Given the description of an element on the screen output the (x, y) to click on. 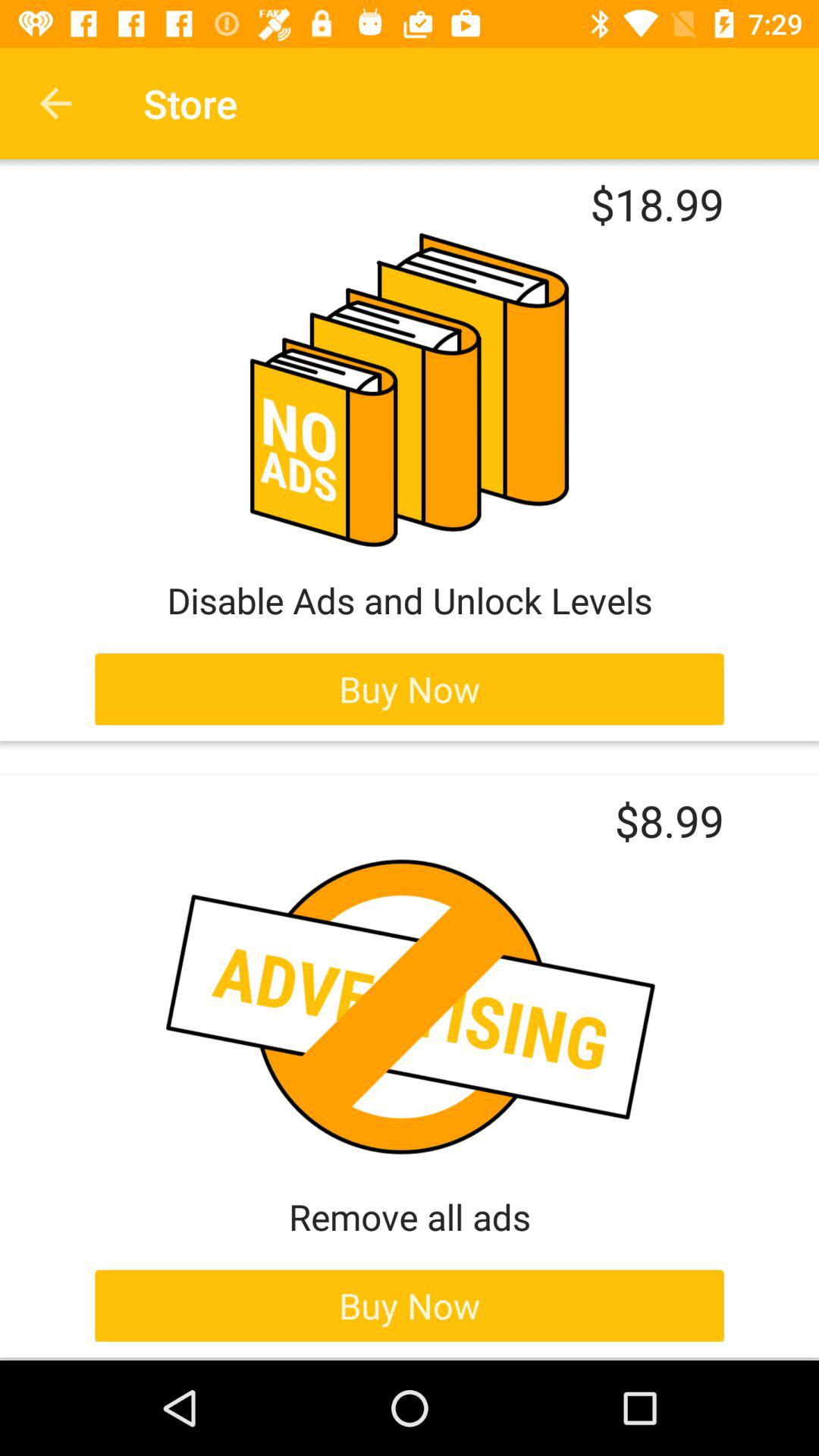
press the item next to the store icon (55, 103)
